Given the description of an element on the screen output the (x, y) to click on. 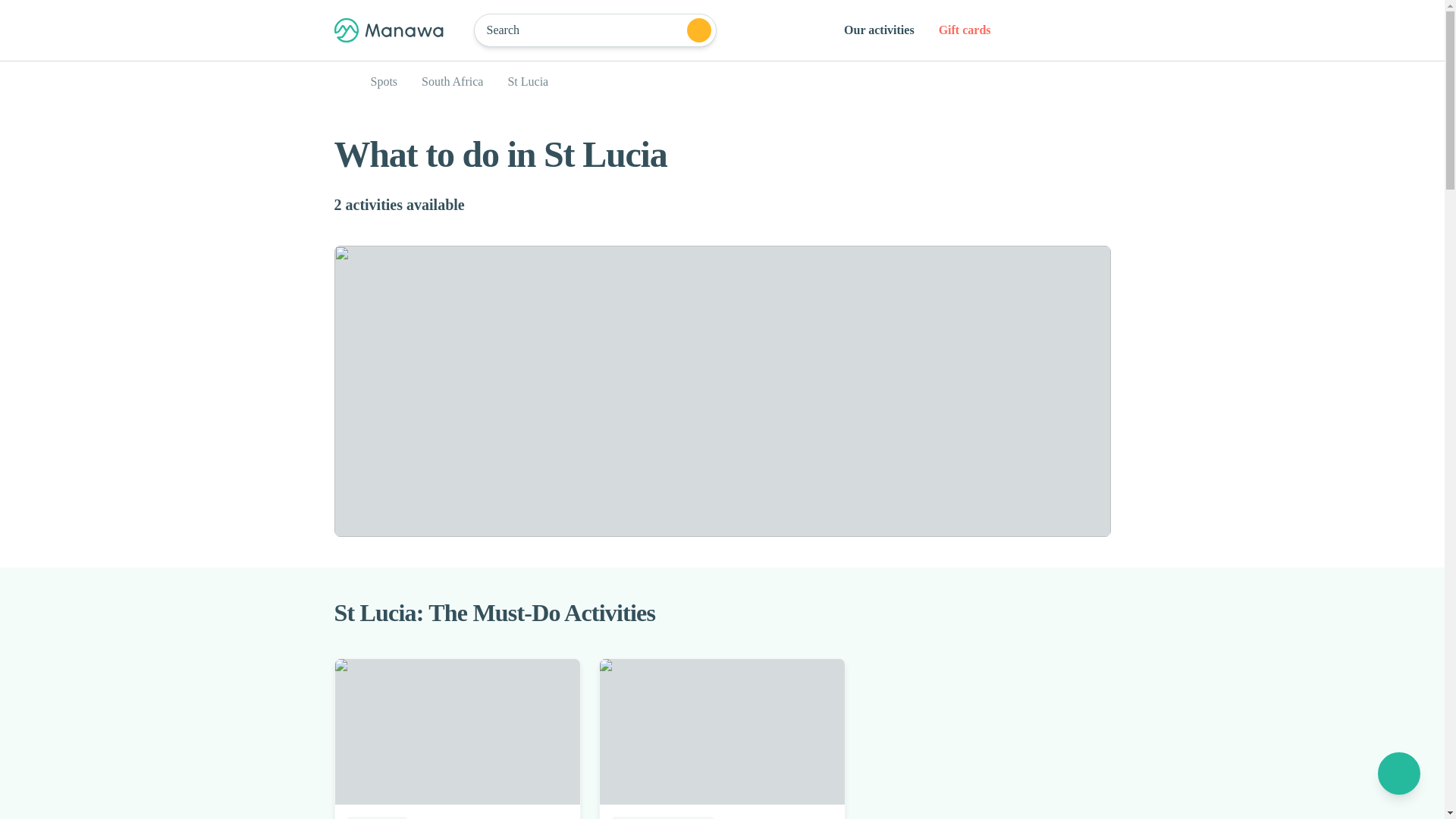
Manawa (721, 81)
